Given the description of an element on the screen output the (x, y) to click on. 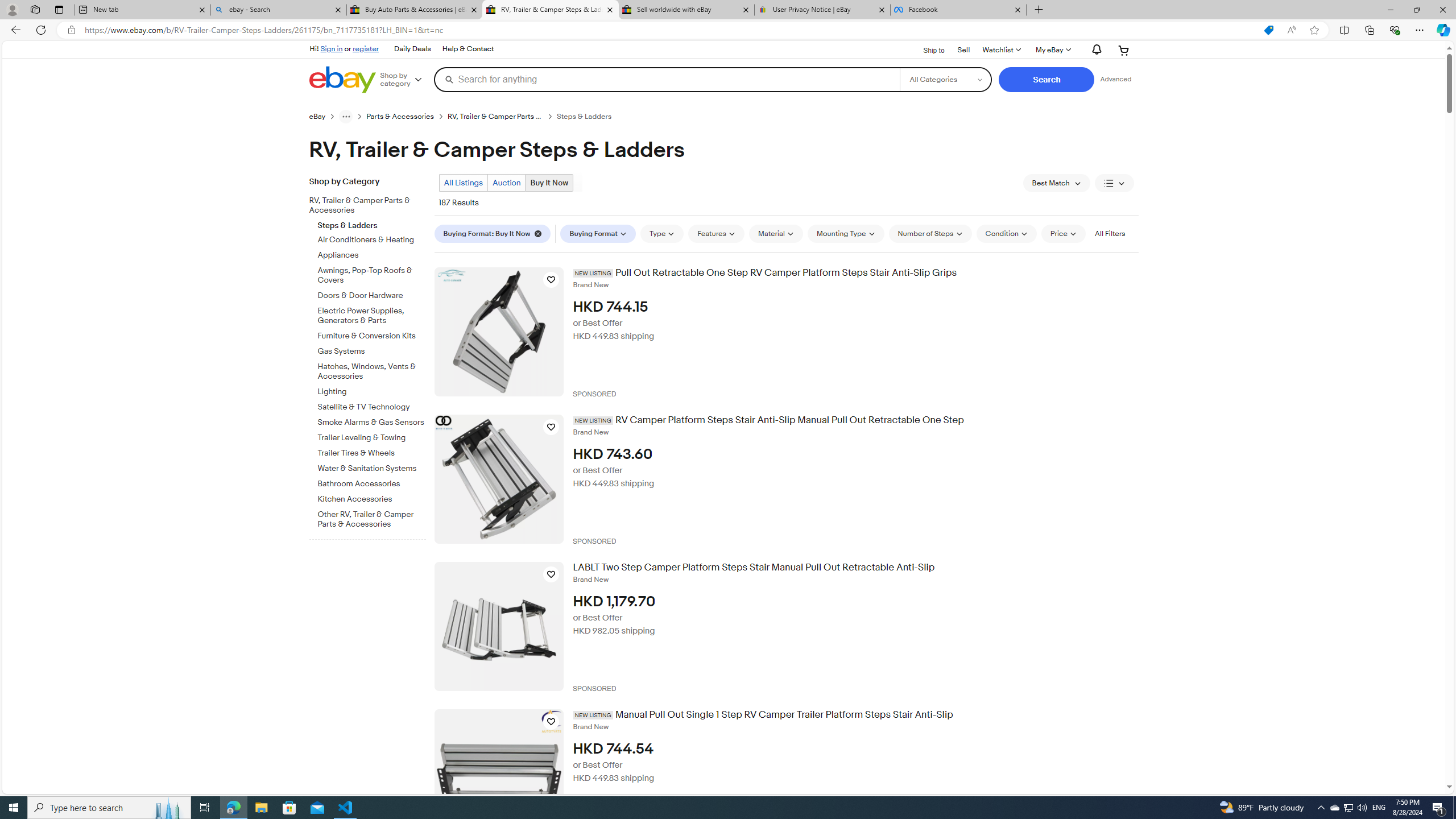
Sell (963, 49)
Address and search bar (669, 29)
This site has coupons! Shopping in Microsoft Edge (1268, 29)
Buying Format (598, 233)
Satellite & TV Technology (371, 404)
Awnings, Pop-Top Roofs & Covers (371, 273)
Facebook (957, 9)
User Privacy Notice | eBay (822, 9)
Smoke Alarms & Gas Sensors (371, 422)
Water & Sanitation Systems (371, 466)
Search for anything (666, 78)
Buying Format: Buy It Now- Remove Filter (494, 233)
Hatches, Windows, Vents & Accessories (371, 369)
